Given the description of an element on the screen output the (x, y) to click on. 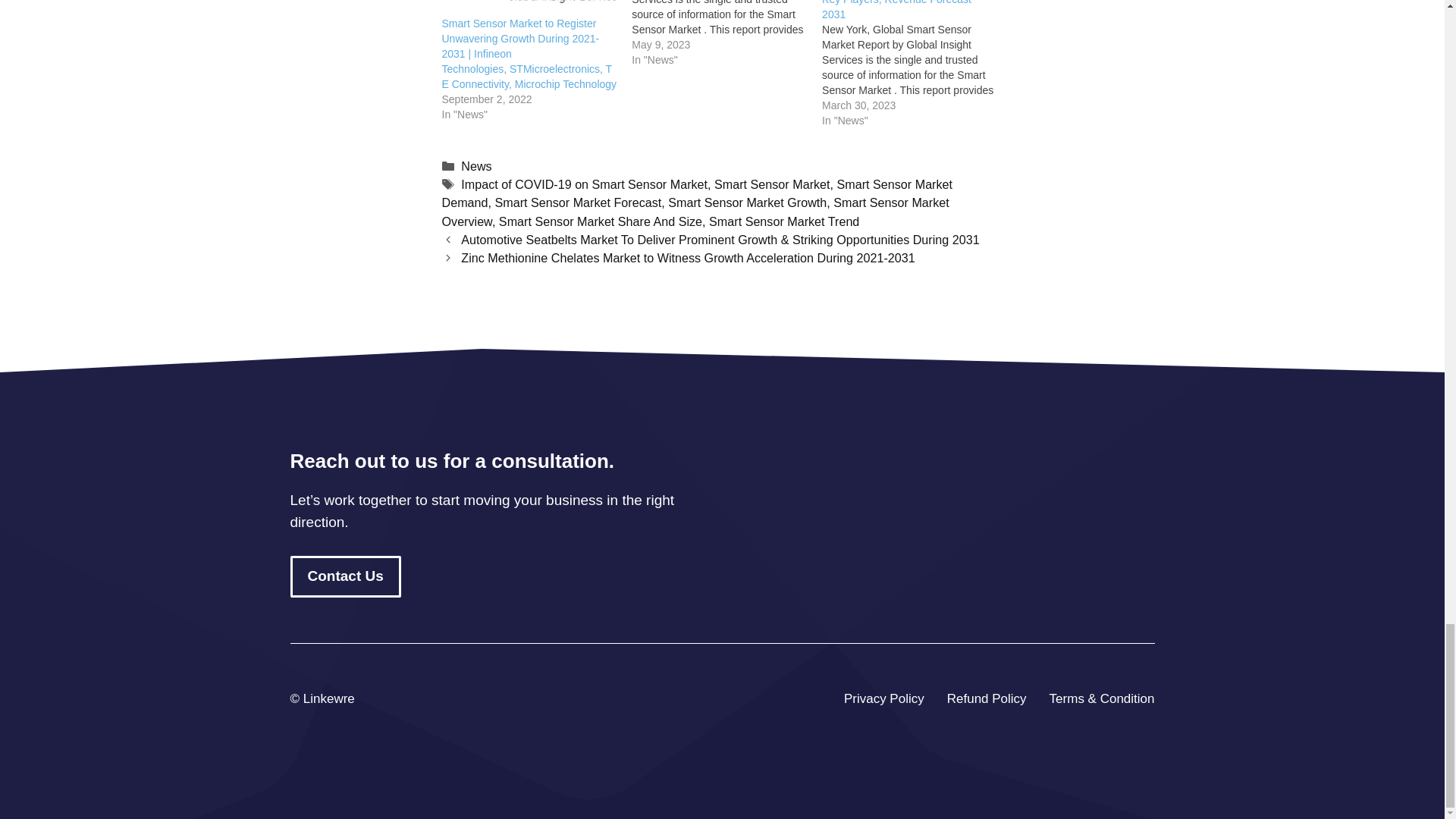
Smart Sensor Market Forecast (578, 202)
Contact Us (344, 576)
Smart Sensor Market Share And Size (600, 221)
Smart Sensor Market (771, 183)
Privacy Policy (884, 699)
Smart Sensor Market Overview (695, 211)
Smart Sensor Market Trend (784, 221)
Impact of COVID-19 on Smart Sensor Market (584, 183)
Smart Sensor Market Demand (696, 193)
Smart Sensor Market Growth (747, 202)
News (476, 165)
Refund Policy (986, 699)
